Given the description of an element on the screen output the (x, y) to click on. 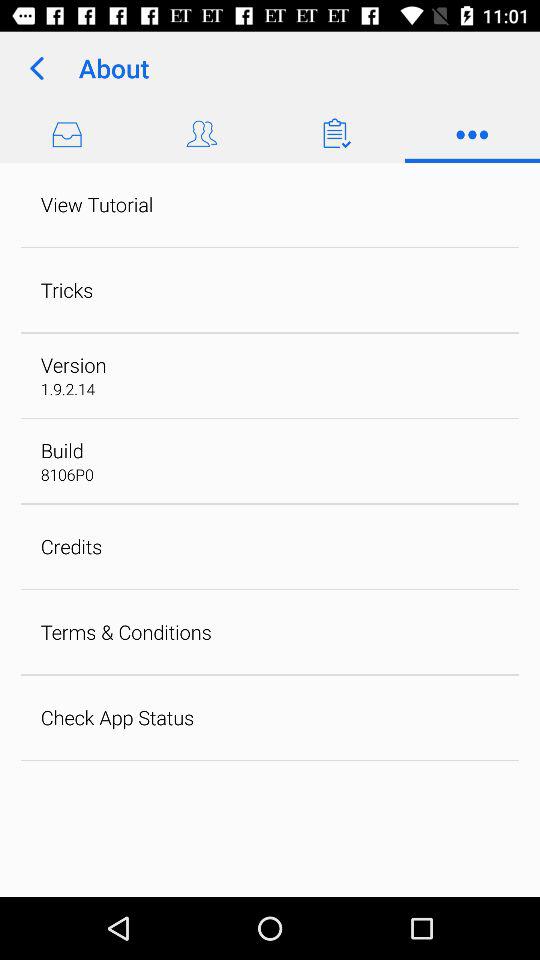
tap the 8106p0 item (66, 474)
